Given the description of an element on the screen output the (x, y) to click on. 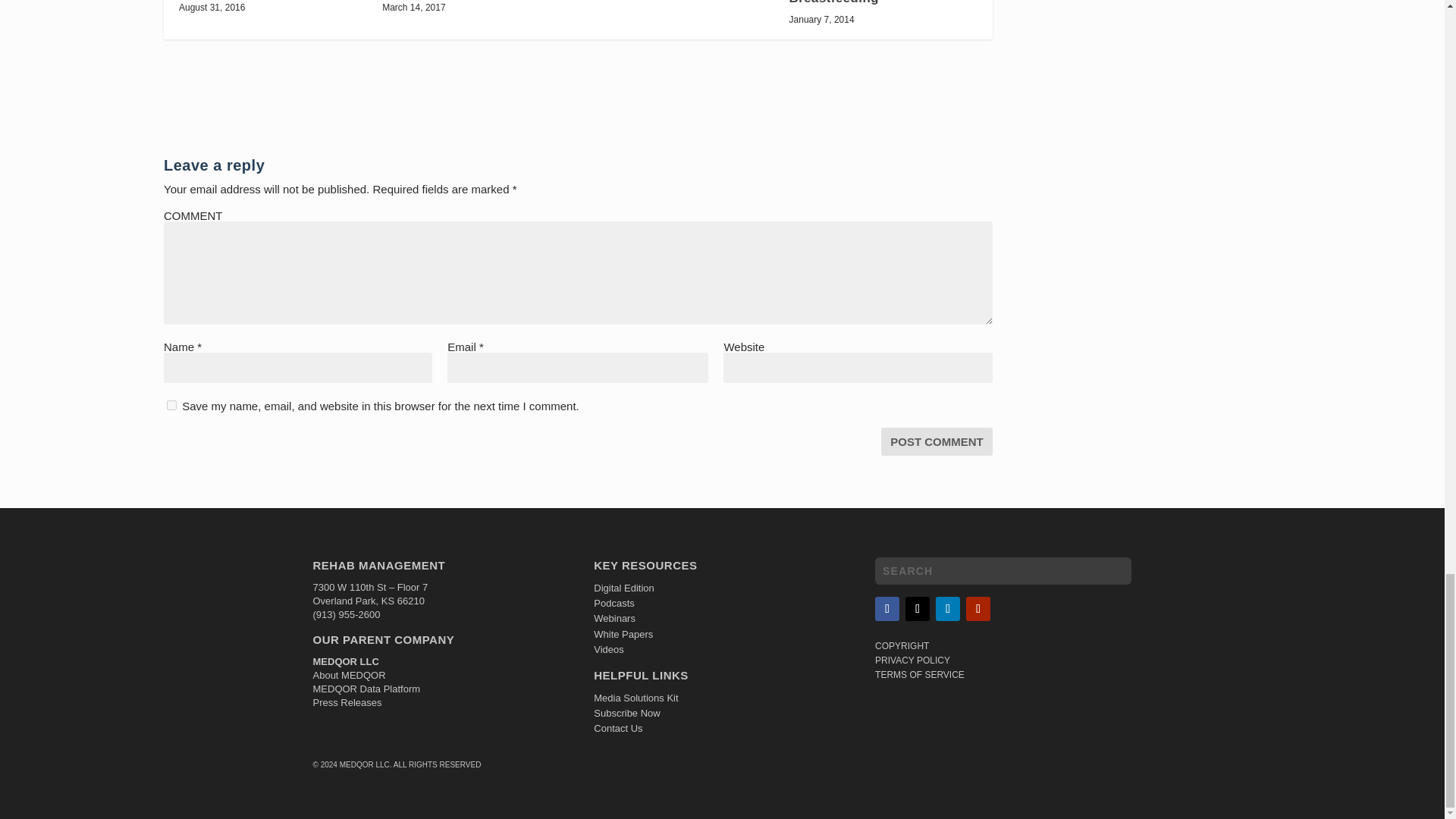
Follow on LinkedIn (947, 608)
Follow on X (917, 608)
yes (171, 405)
Follow on Facebook (887, 608)
Post Comment (936, 441)
